Given the description of an element on the screen output the (x, y) to click on. 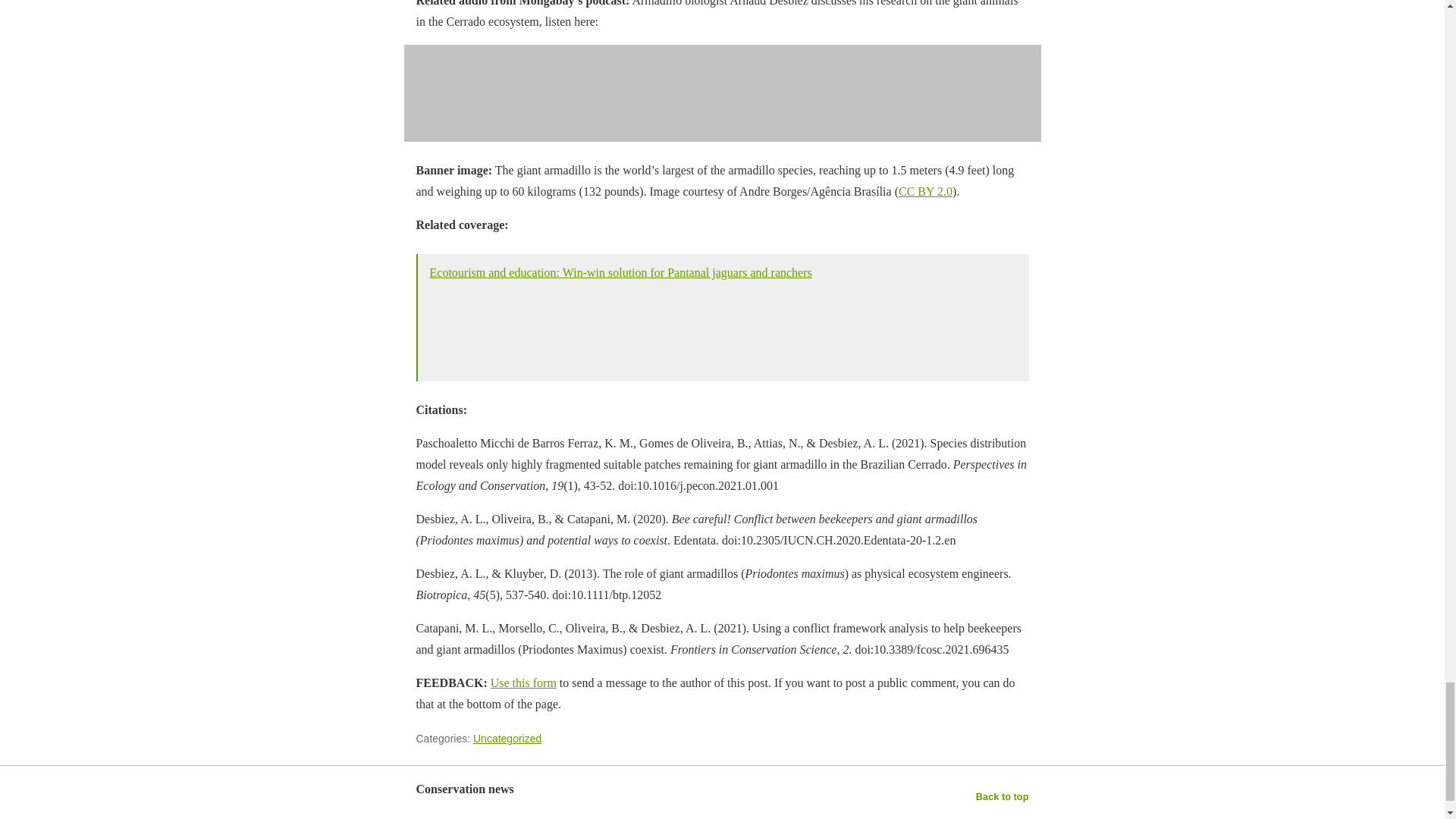
Embed Player (722, 93)
CC BY 2.0 (925, 191)
Uncategorized (507, 738)
Back to top (1002, 796)
Use this form (523, 682)
